Given the description of an element on the screen output the (x, y) to click on. 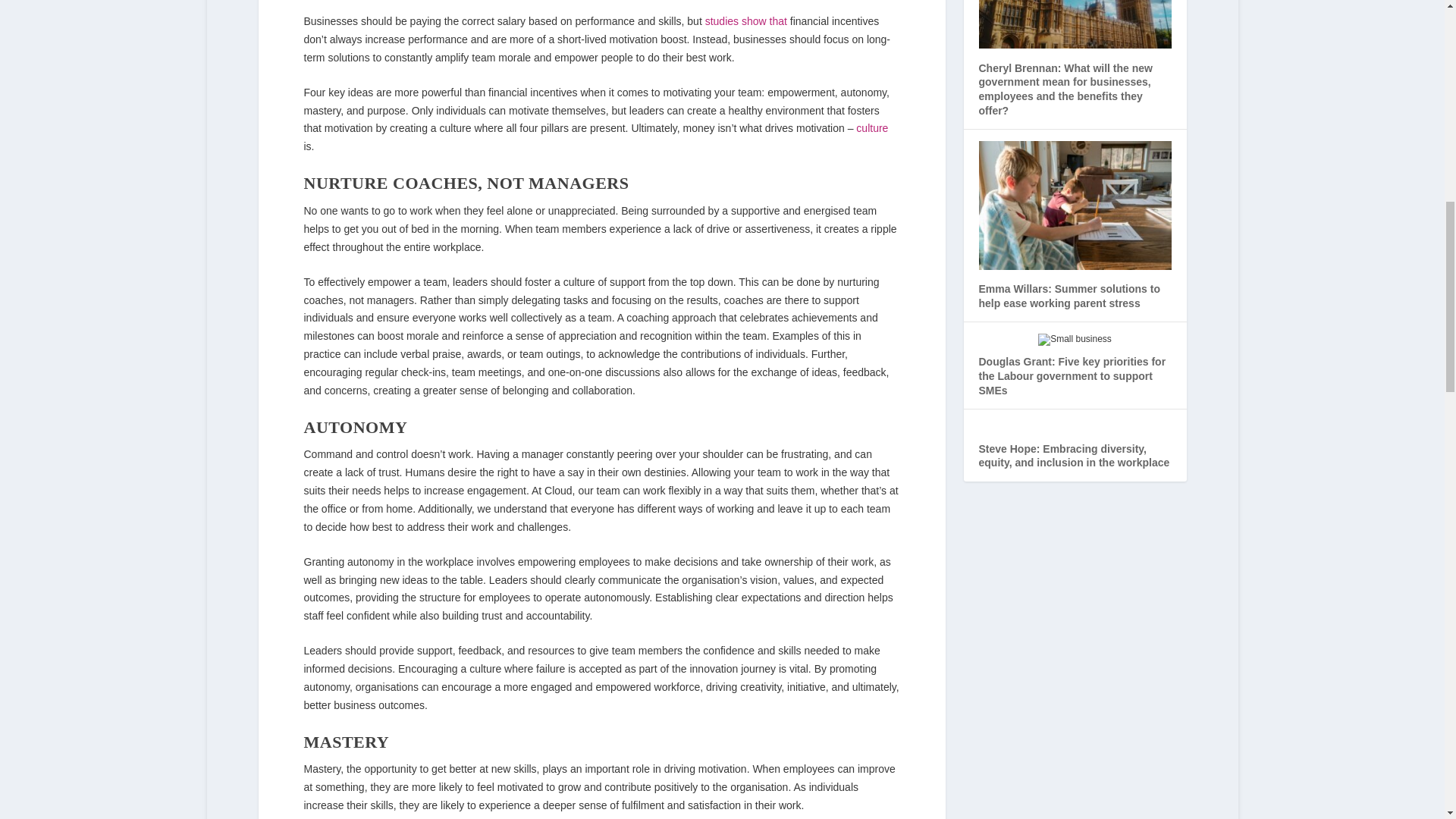
culture (872, 128)
studies show that (745, 21)
